Given the description of an element on the screen output the (x, y) to click on. 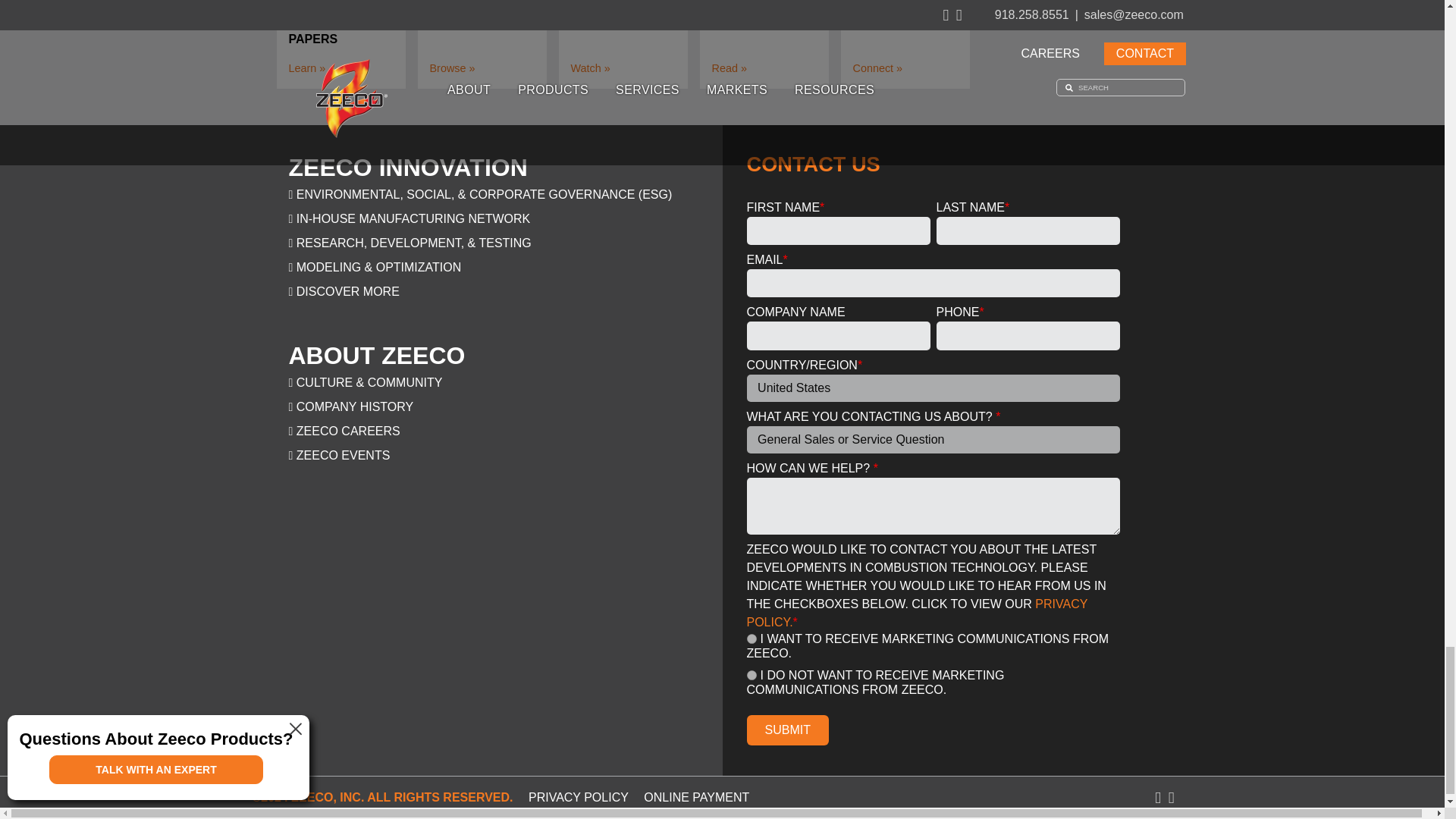
Submit (786, 729)
I do not want to receive communications from Zeeco. (750, 675)
I want to receive communications from Zeeco. (750, 638)
